Given the description of an element on the screen output the (x, y) to click on. 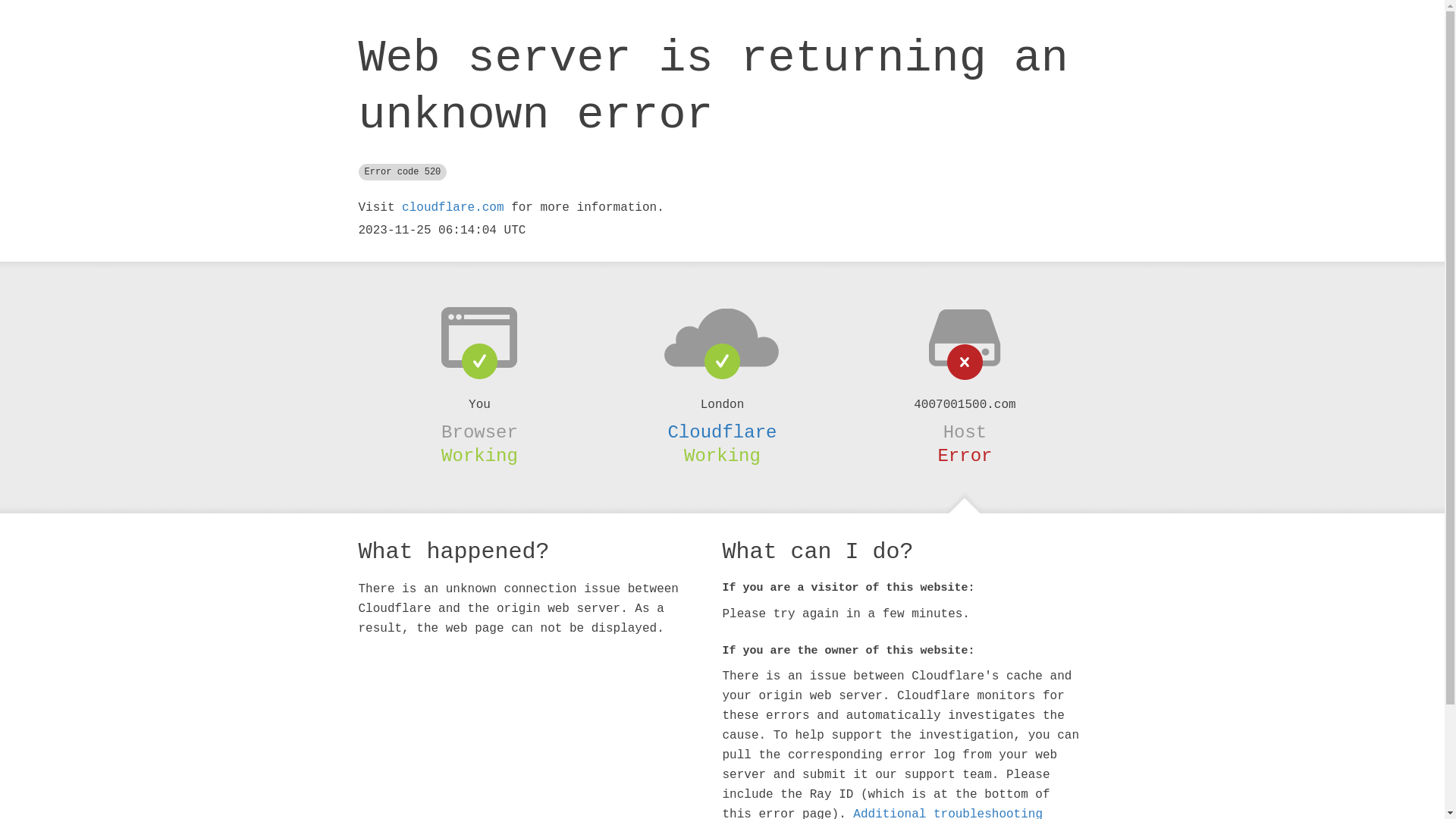
cloudflare.com Element type: text (452, 207)
Cloudflare Element type: text (721, 432)
